Given the description of an element on the screen output the (x, y) to click on. 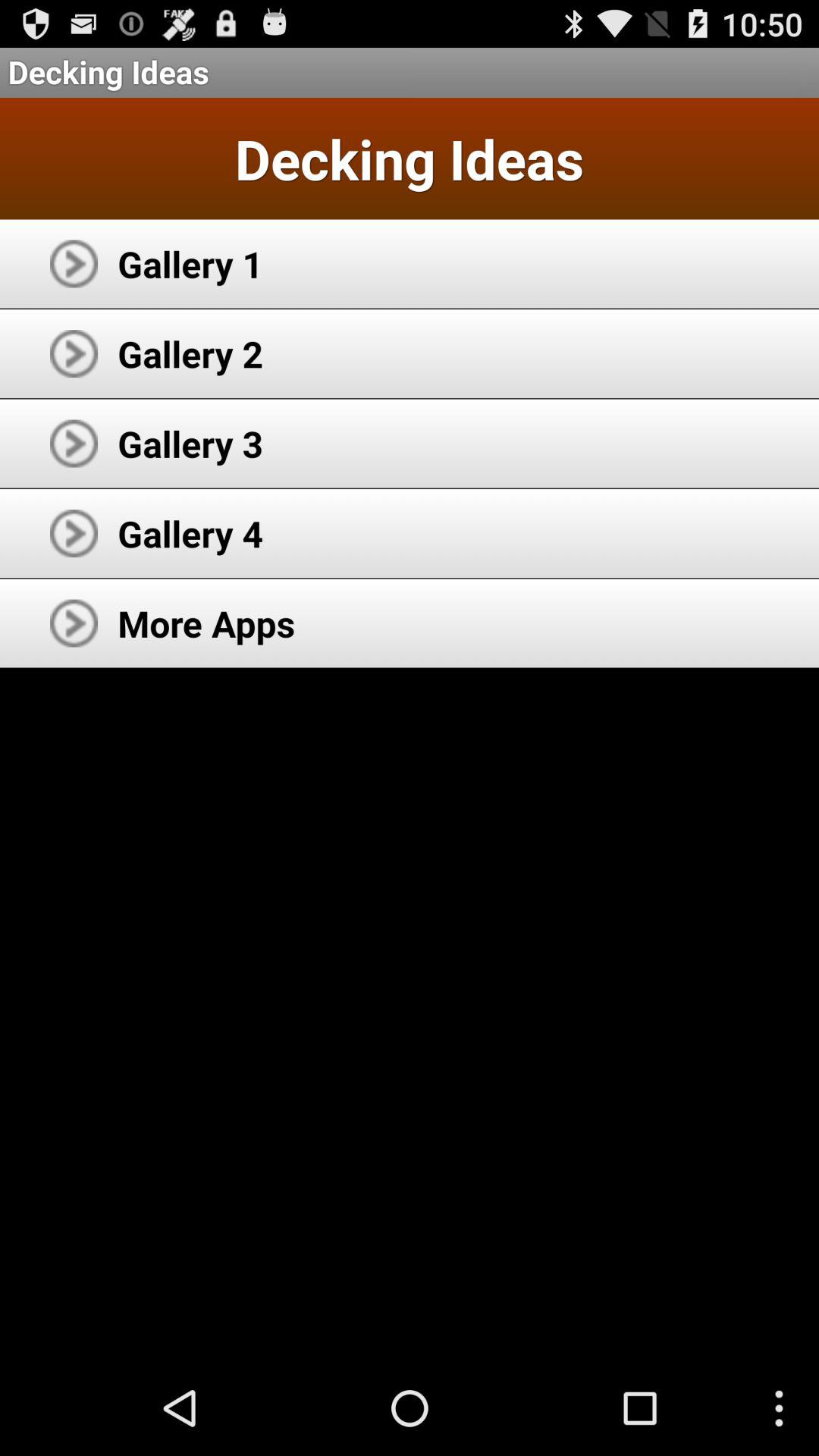
select item below the gallery 1 icon (190, 353)
